Given the description of an element on the screen output the (x, y) to click on. 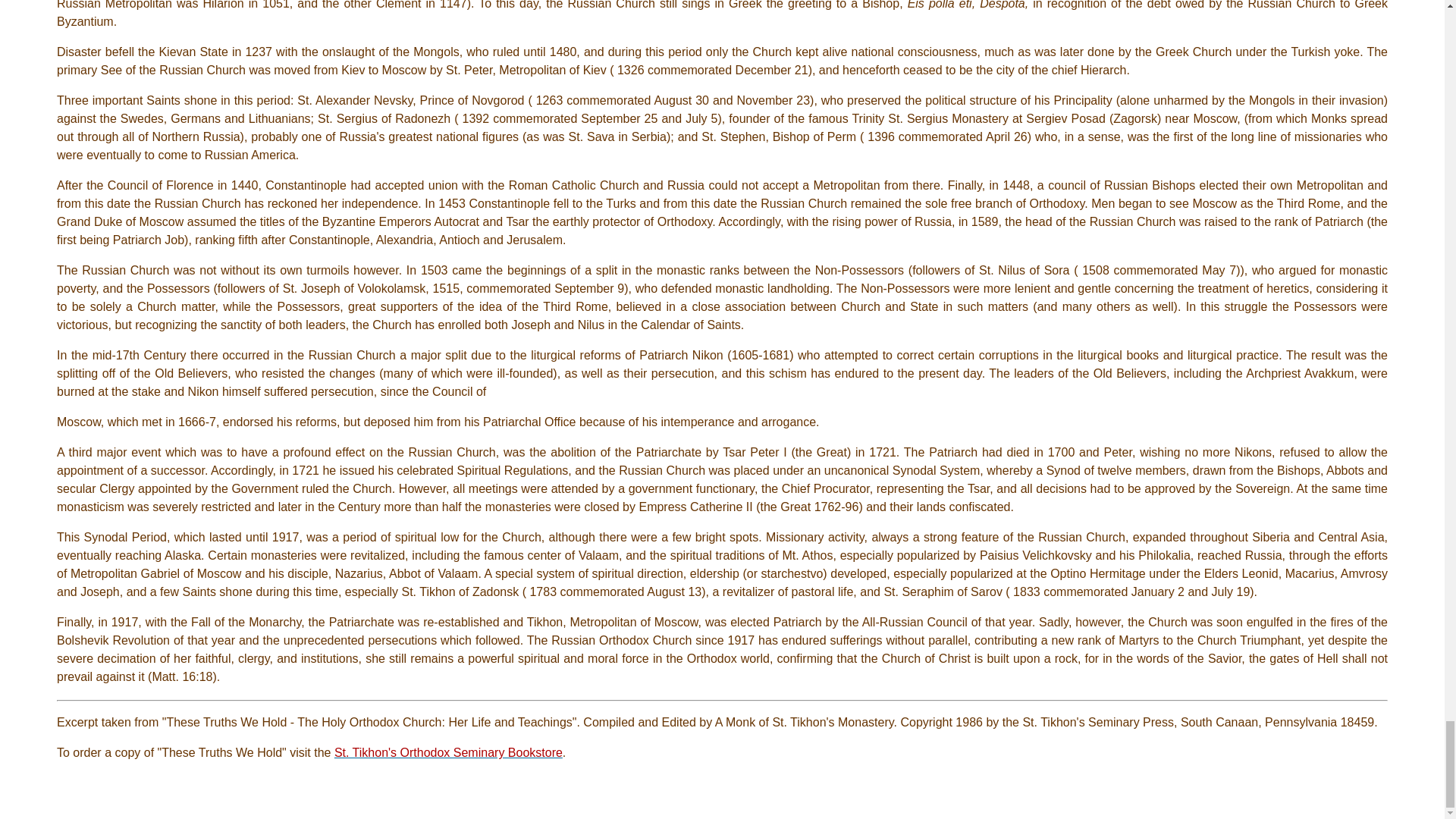
St. Tikhon's Orthodox Seminary Bookstore (448, 752)
